Given the description of an element on the screen output the (x, y) to click on. 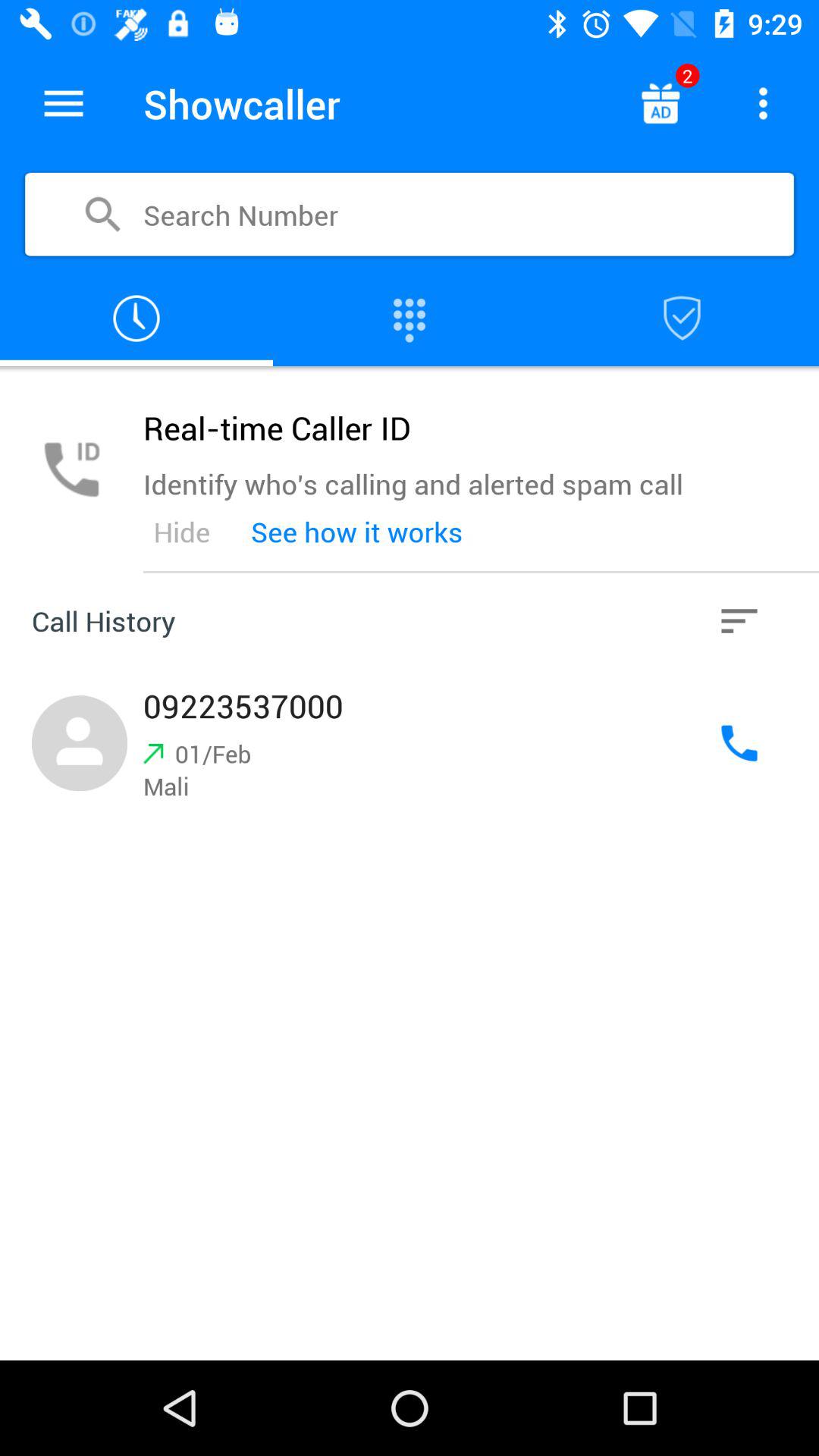
launch item to the right of showcaller (659, 103)
